Given the description of an element on the screen output the (x, y) to click on. 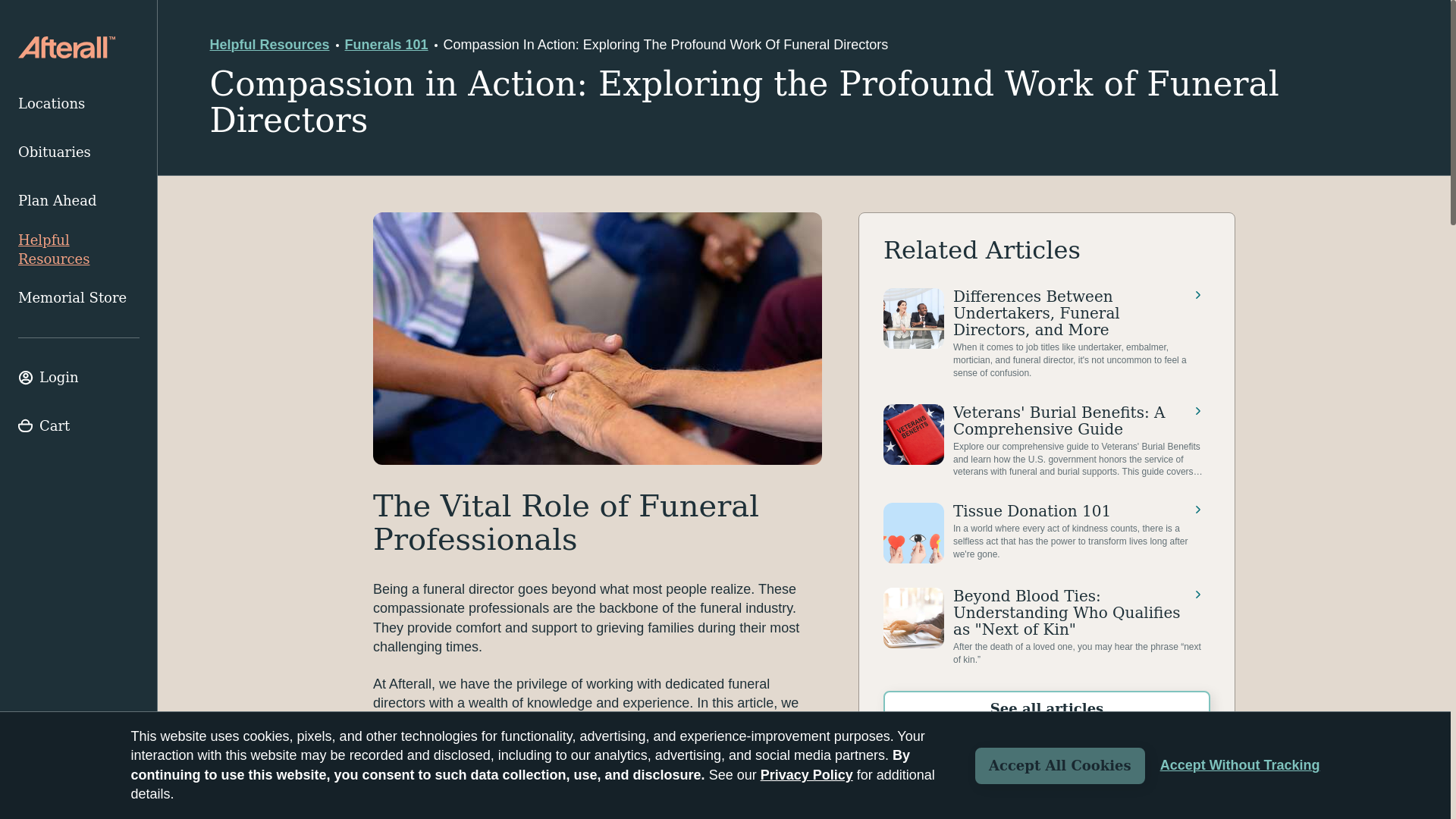
Cart (78, 426)
Privacy Policy (806, 774)
Helpful Resources (78, 249)
Locations (78, 103)
Plan Ahead (78, 200)
Memorial Store (78, 297)
Veterans' Burial Benefits: A Comprehensive Guide (1044, 441)
Login (78, 377)
View your cart (78, 426)
Funerals 101 (386, 45)
